Given the description of an element on the screen output the (x, y) to click on. 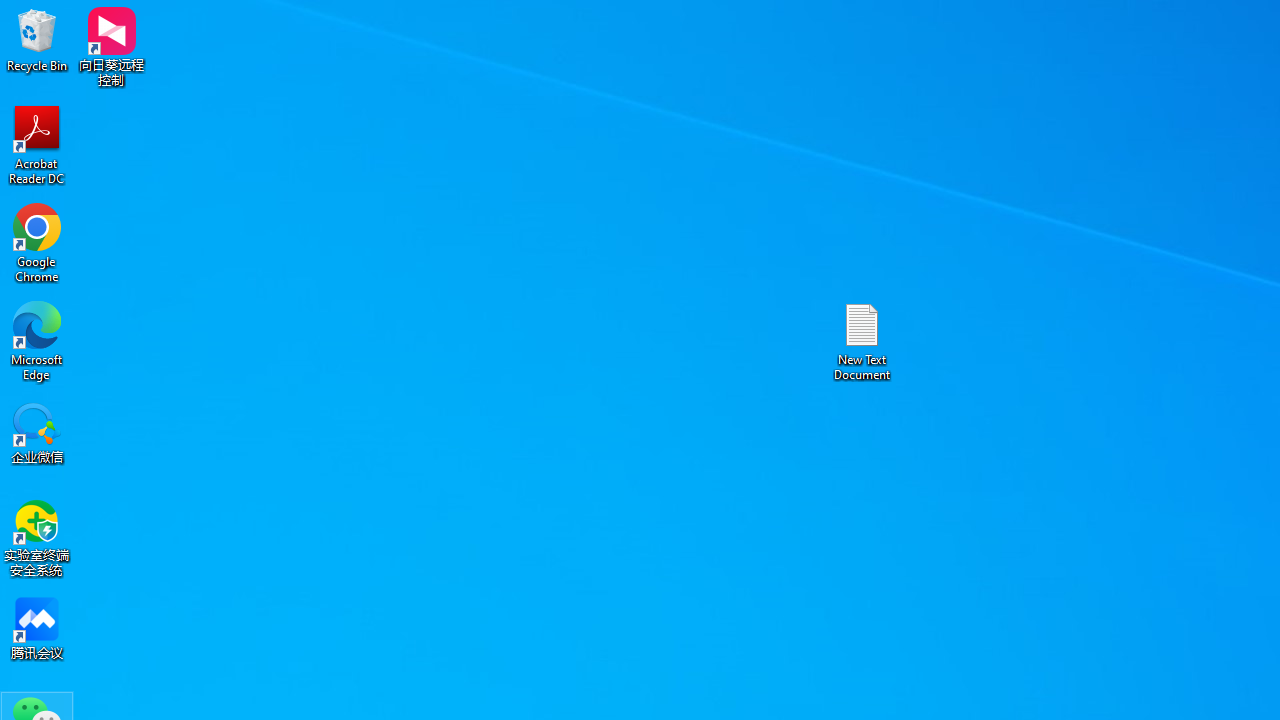
Recycle Bin (37, 39)
New Text Document (861, 340)
Microsoft Edge (37, 340)
Acrobat Reader DC (37, 144)
Google Chrome (37, 242)
